Given the description of an element on the screen output the (x, y) to click on. 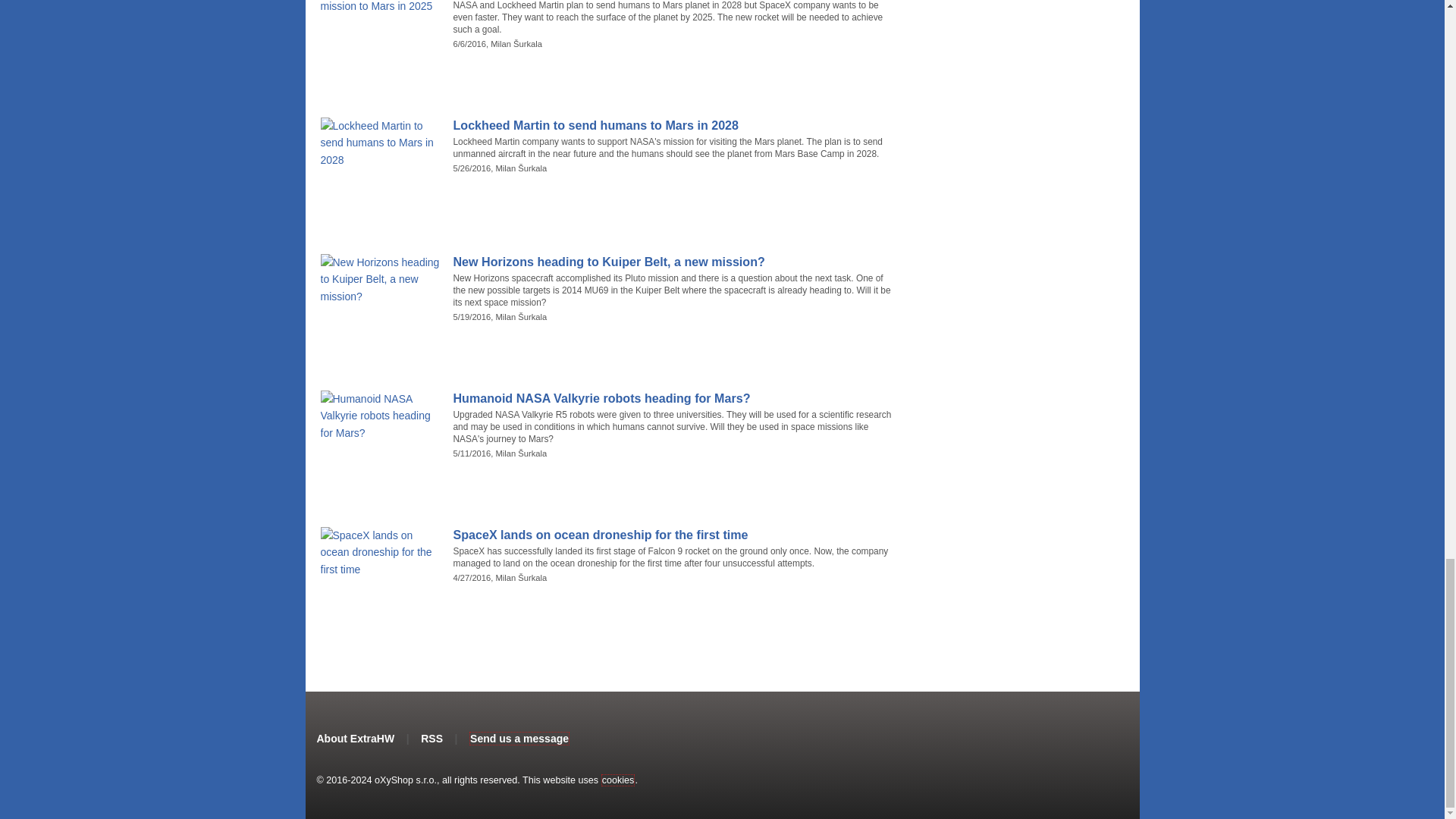
New Horizons heading to Kuiper Belt, a new mission? (674, 261)
Lockheed Martin to send humans to Mars in 2028 (674, 125)
SpaceX lands on ocean droneship for the first time (674, 534)
Humanoid NASA Valkyrie robots heading for Mars? (674, 398)
